Given the description of an element on the screen output the (x, y) to click on. 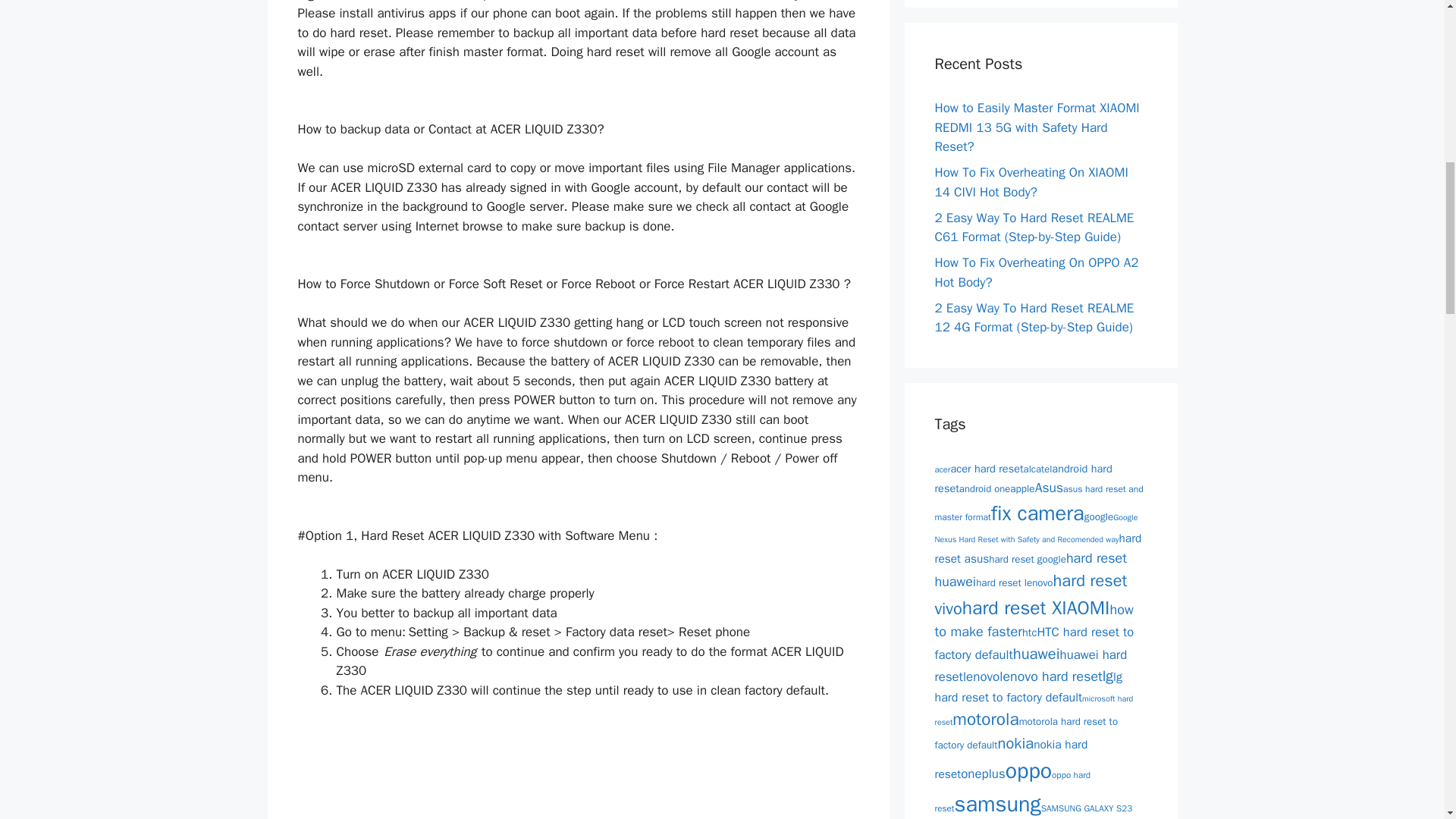
hard reset acer liquid z330 (453, 778)
